Given the description of an element on the screen output the (x, y) to click on. 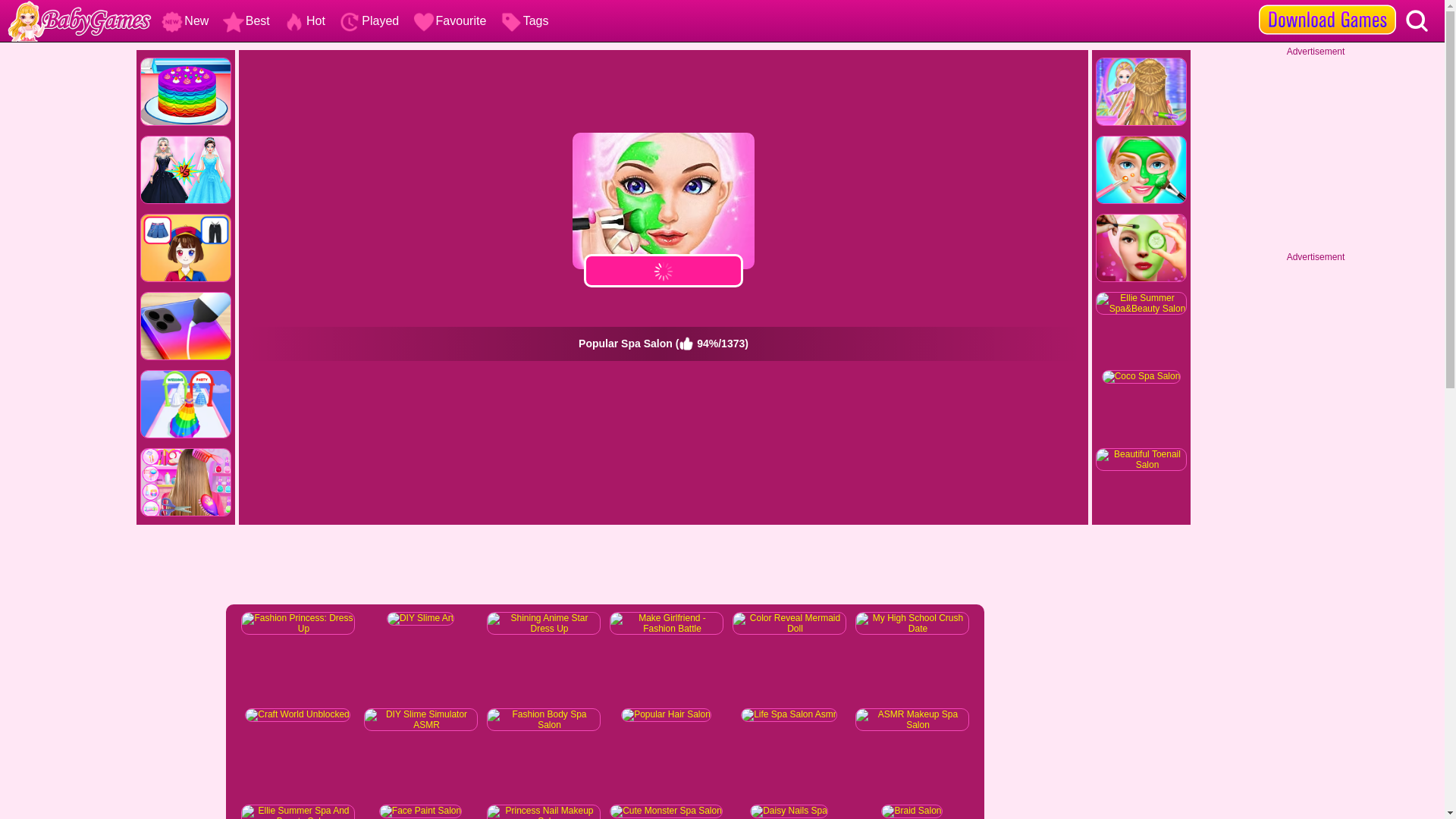
Played (367, 20)
Best (244, 20)
Hot (302, 20)
New (183, 20)
Tags (523, 20)
Favourite (448, 20)
